Given the description of an element on the screen output the (x, y) to click on. 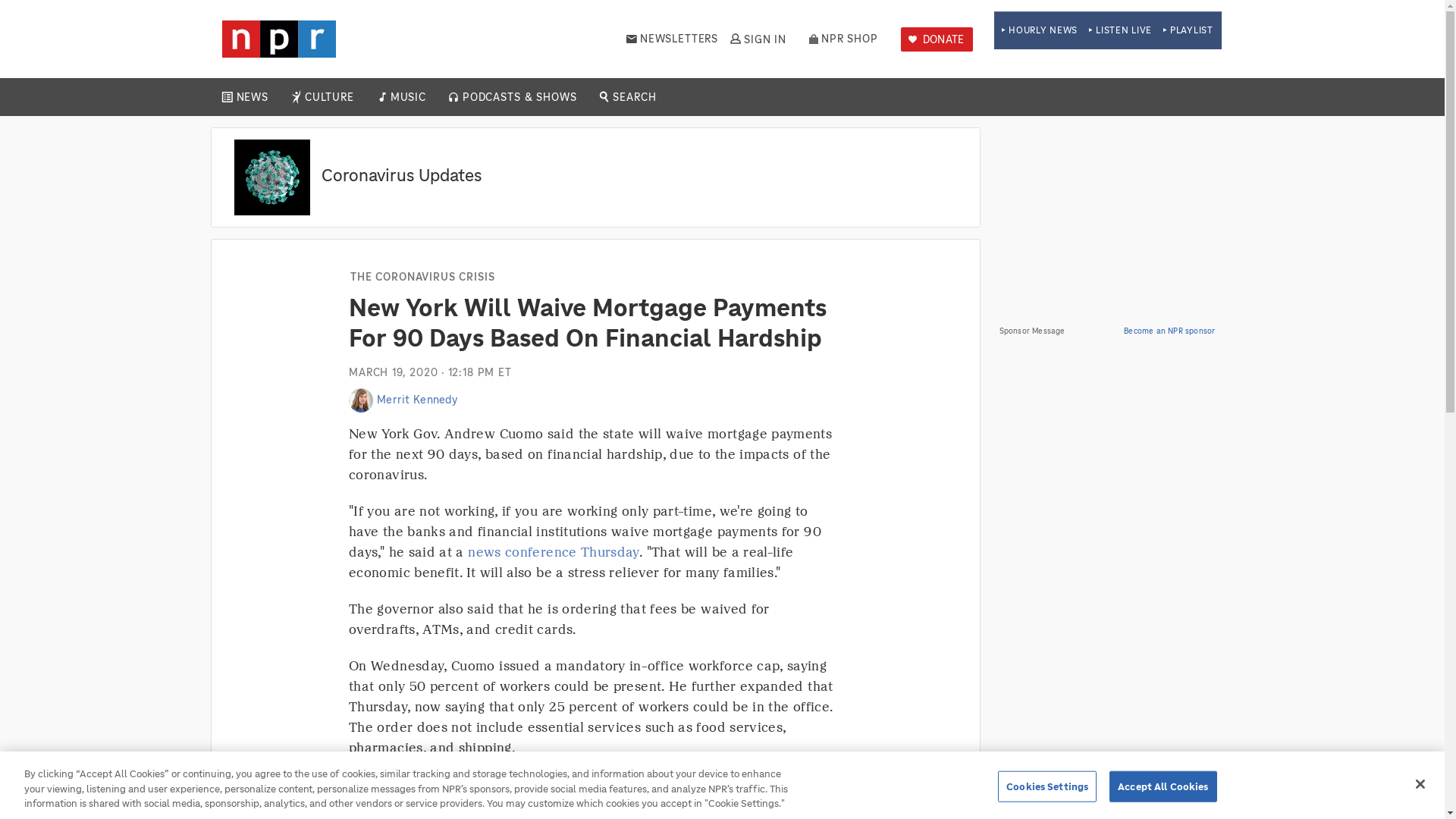
PLAYLIST (1187, 30)
NPR SHOP (843, 38)
DONATE (936, 39)
SIGN IN (757, 38)
LISTEN LIVE (1120, 30)
NEWSLETTERS (671, 38)
NEWS (251, 96)
CULTURE (328, 96)
MUSIC (407, 96)
HOURLY NEWS (1039, 30)
